Given the description of an element on the screen output the (x, y) to click on. 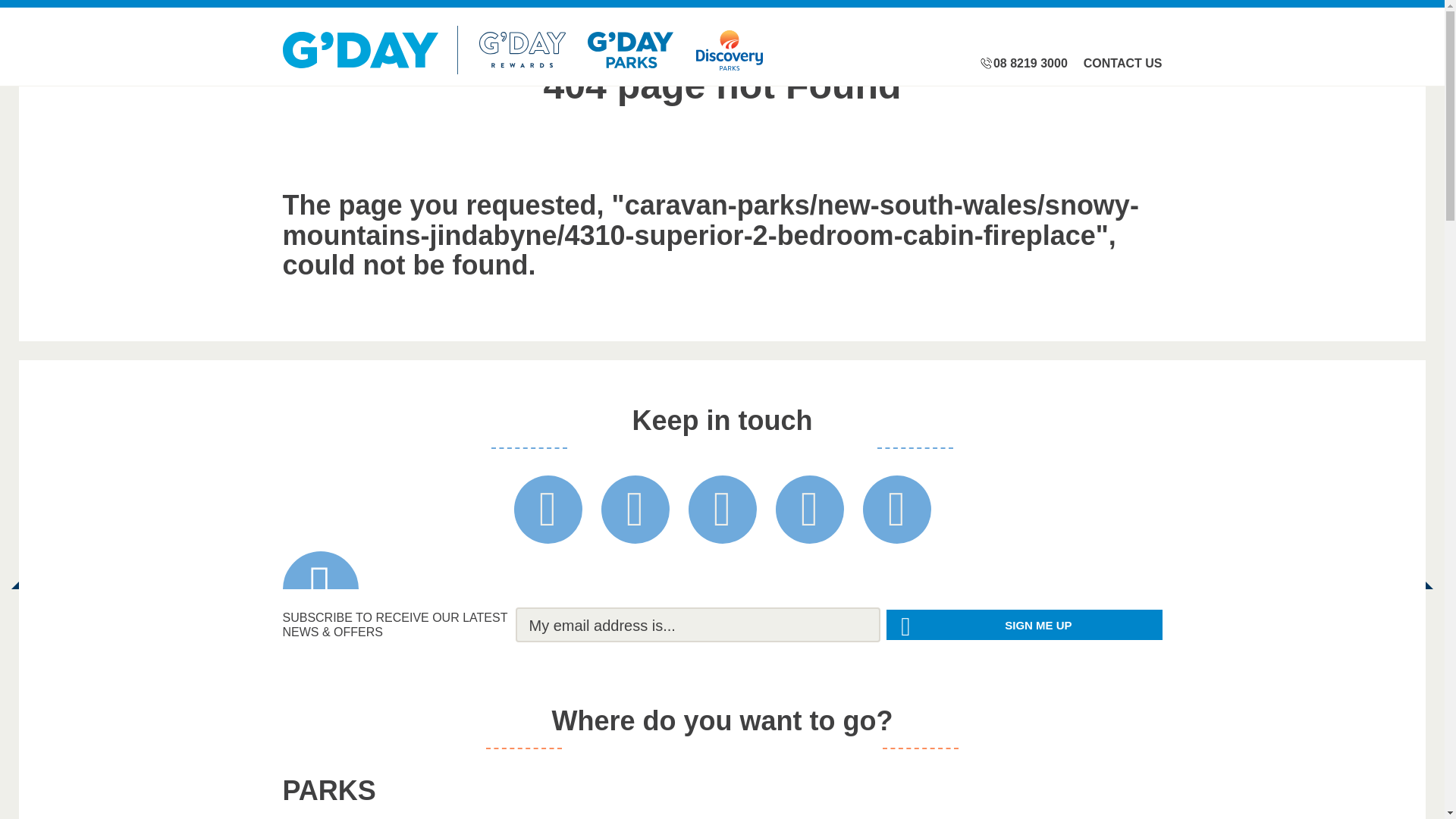
SIGN ME UP Element type: text (1023, 624)
Twitter Element type: text (634, 509)
EAST KATHERINE CARAVAN & CAMPING PARK Element type: text (607, 793)
Telephone icon Element type: hover (985, 63)
08 8219 3000 Element type: text (1030, 63)
View G'day Parks .com.au in a new window Element type: hover (630, 49)
CONTACT US Element type: text (1122, 63)
BAROSSA VALLEY Element type: text (835, 787)
Facebook Element type: text (548, 509)
LAKE HAMILTON MOTOR VILLAGE & CARAVAN PARK Element type: text (1062, 793)
YouTube Element type: text (896, 509)
View G'day Rewards .com.au in a new window Element type: hover (522, 49)
Instagram Element type: text (722, 509)
Pinterest Element type: text (809, 509)
View Discover Holiday Parks .com.au in a new window Element type: hover (729, 49)
